Given the description of an element on the screen output the (x, y) to click on. 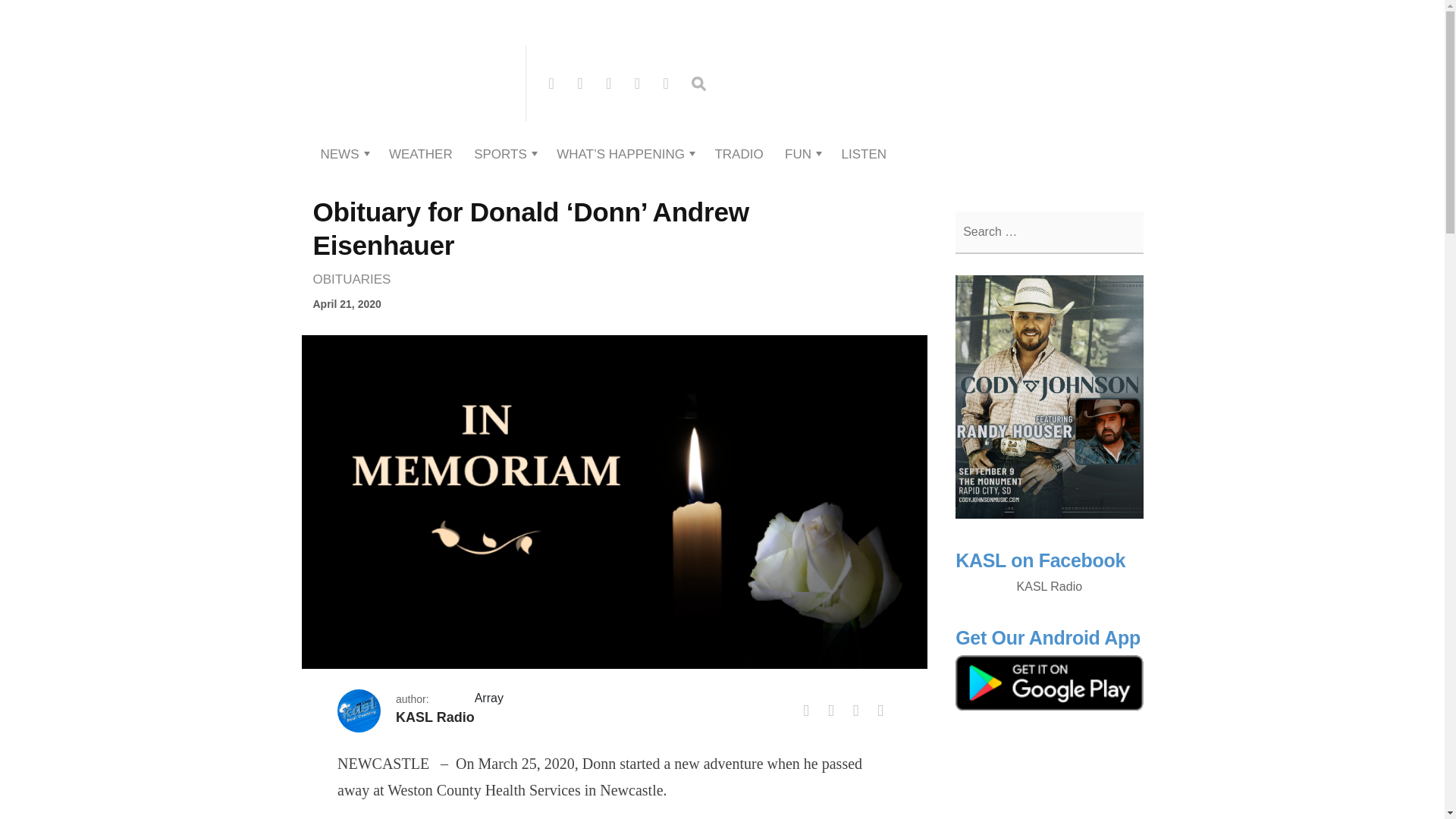
WEATHER (420, 154)
KASL Radio (411, 117)
NEWS (339, 154)
SPORTS (500, 154)
Posts by KASL Radio (435, 717)
Obituaries (355, 278)
